Given the description of an element on the screen output the (x, y) to click on. 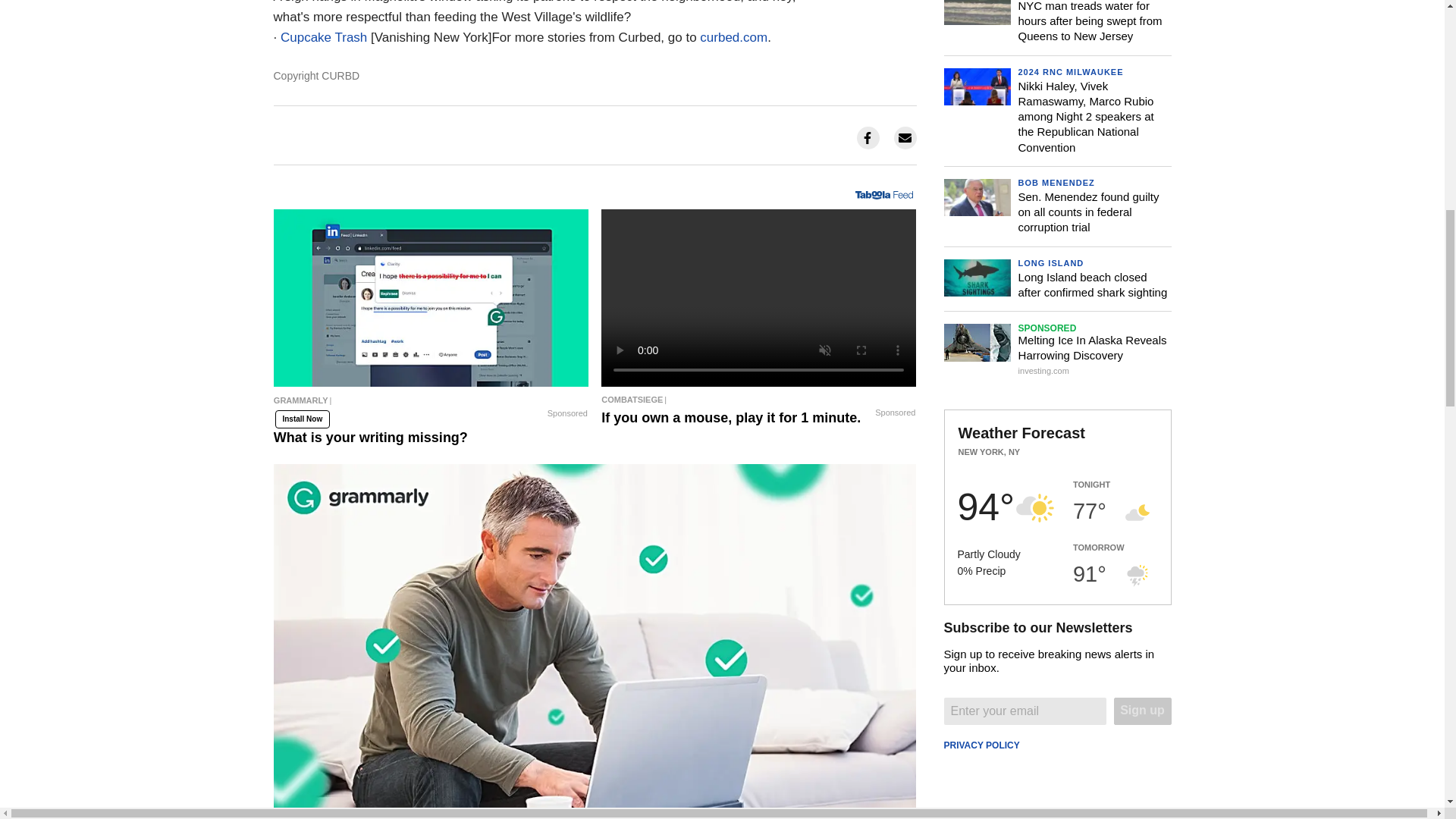
What is your writing missing? (430, 402)
Cupcake Trash (323, 37)
curbed.com (733, 37)
If you own a mouse, play it for 1 minute. (758, 398)
